Given the description of an element on the screen output the (x, y) to click on. 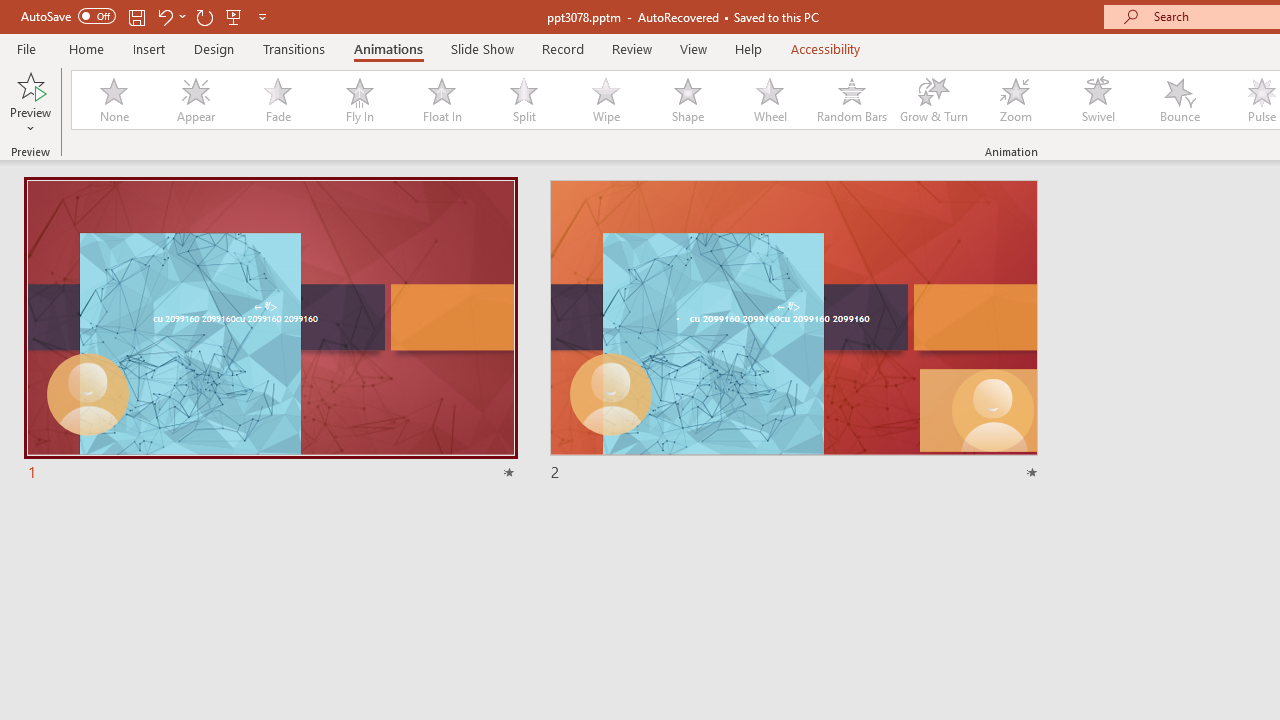
Accessibility (825, 48)
Shape (687, 100)
Bounce (1180, 100)
Preview (30, 102)
